Given the description of an element on the screen output the (x, y) to click on. 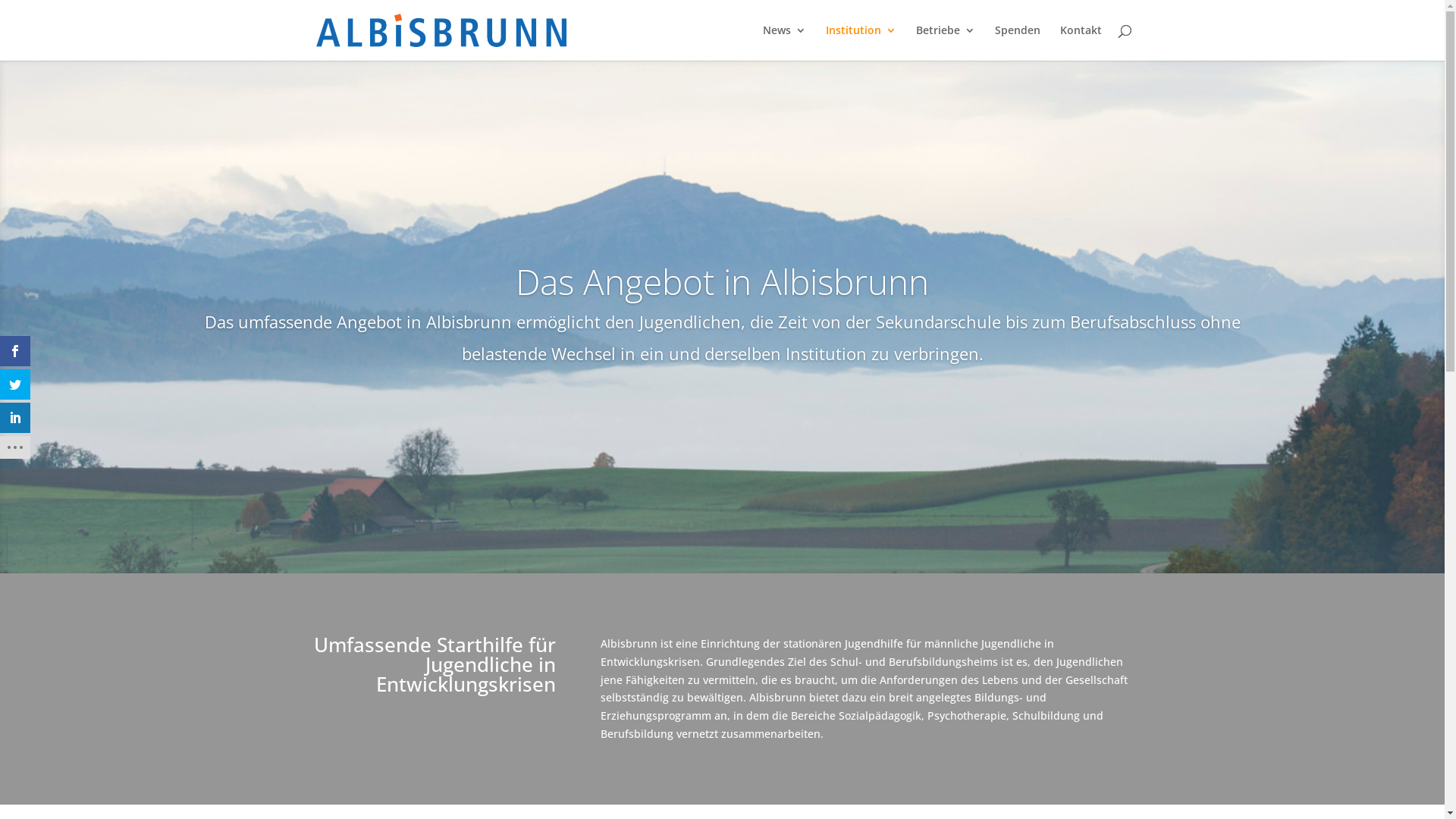
Spenden Element type: text (1017, 42)
News Element type: text (784, 42)
Betriebe Element type: text (945, 42)
Institution Element type: text (860, 42)
Kontakt Element type: text (1080, 42)
